Given the description of an element on the screen output the (x, y) to click on. 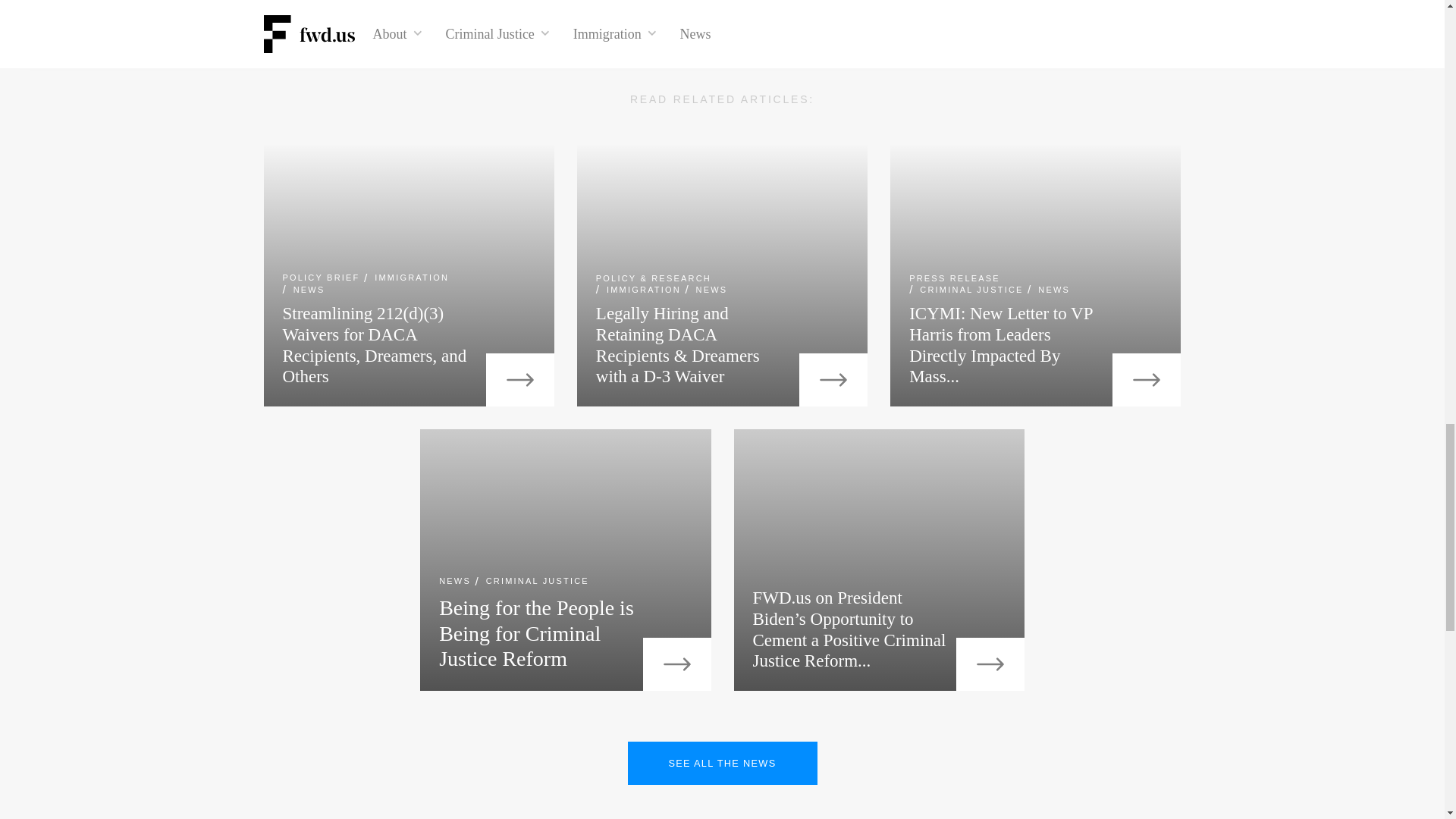
SEE ALL THE NEWS (721, 763)
